Given the description of an element on the screen output the (x, y) to click on. 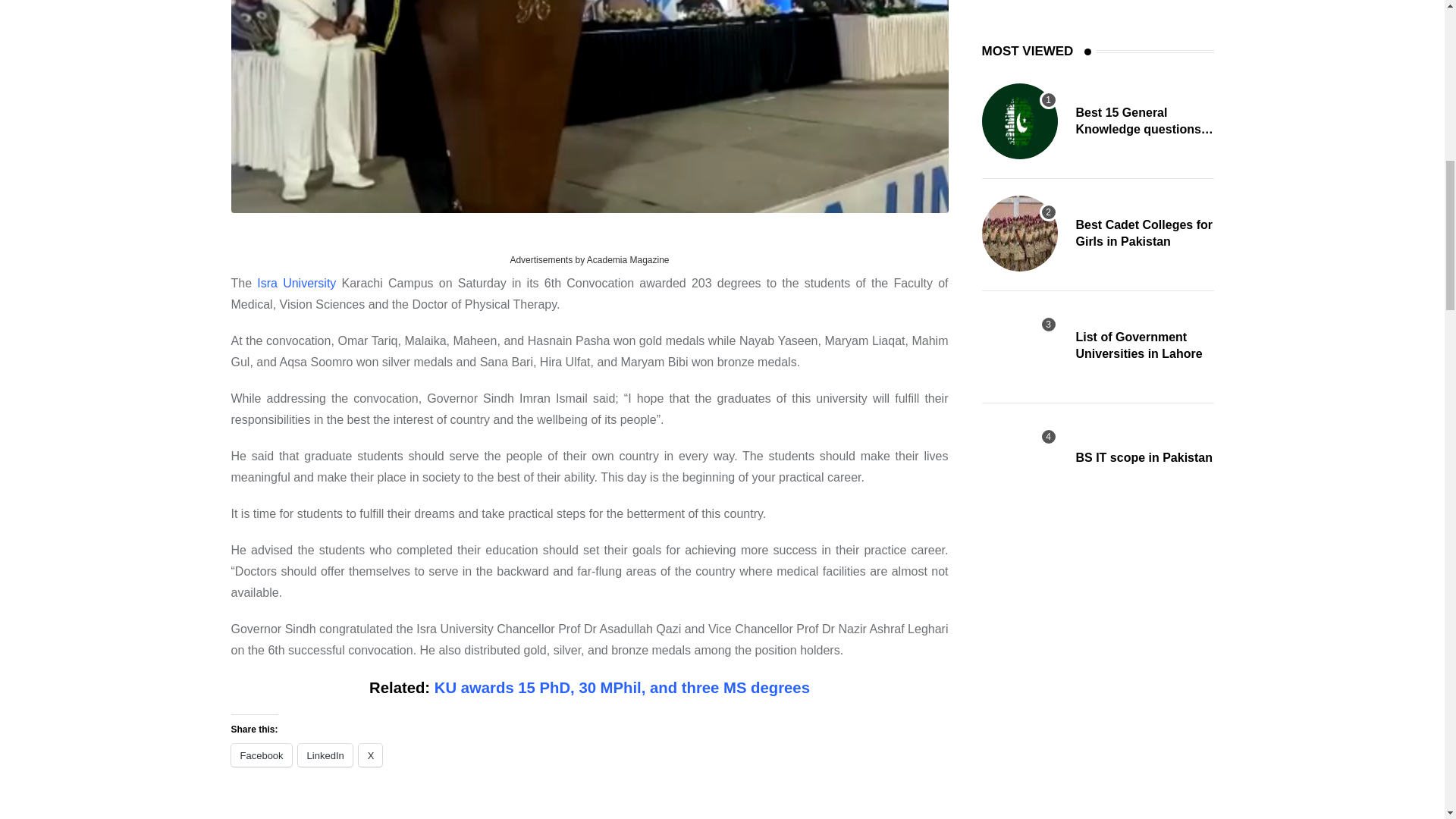
Click to share on X (370, 754)
Click to share on LinkedIn (325, 754)
Click to share on Facebook (260, 754)
